Given the description of an element on the screen output the (x, y) to click on. 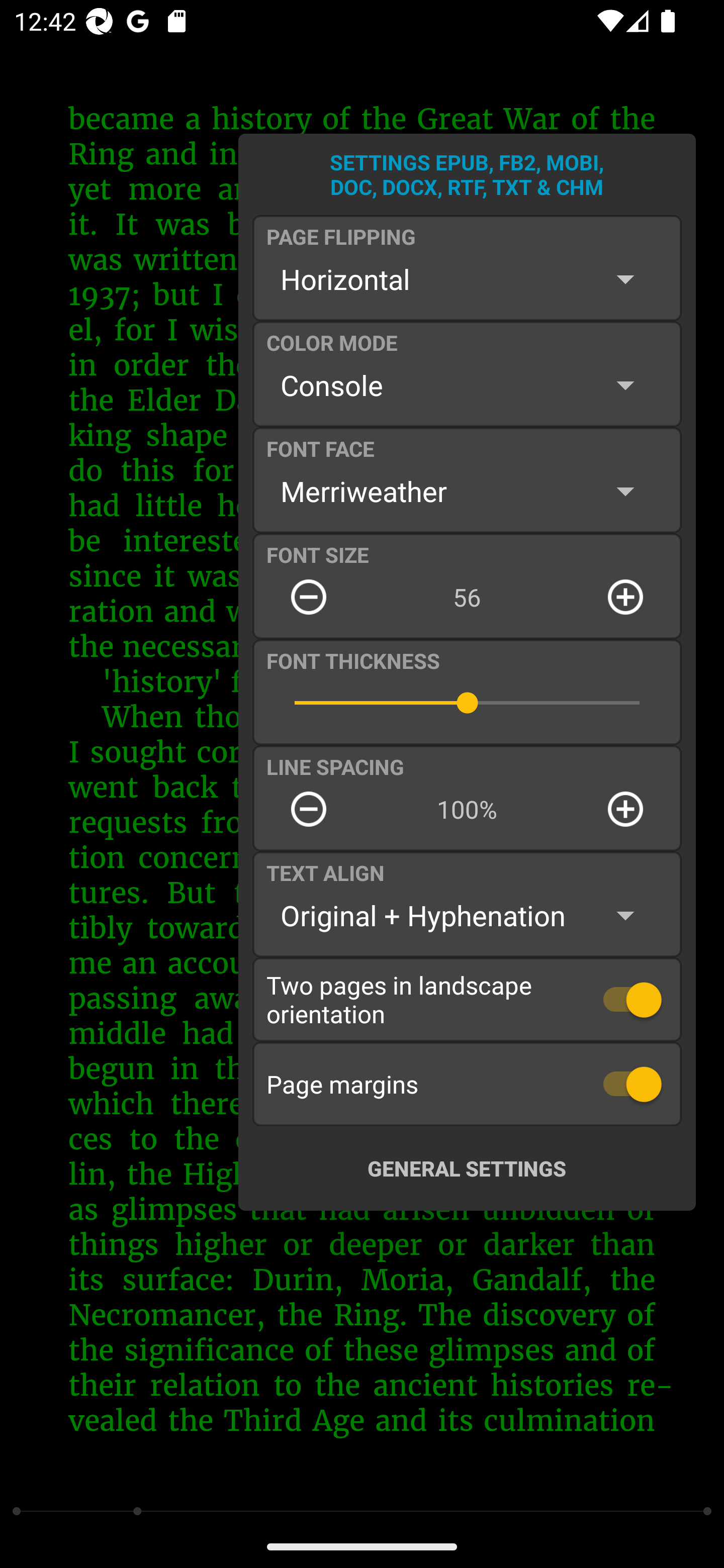
Horizontal (466, 278)
Console (466, 384)
Merriweather (466, 490)
Original + Hyphenation (466, 915)
Two pages in landscape orientation (467, 999)
Page margins (467, 1083)
GENERAL SETTINGS (466, 1167)
